Given the description of an element on the screen output the (x, y) to click on. 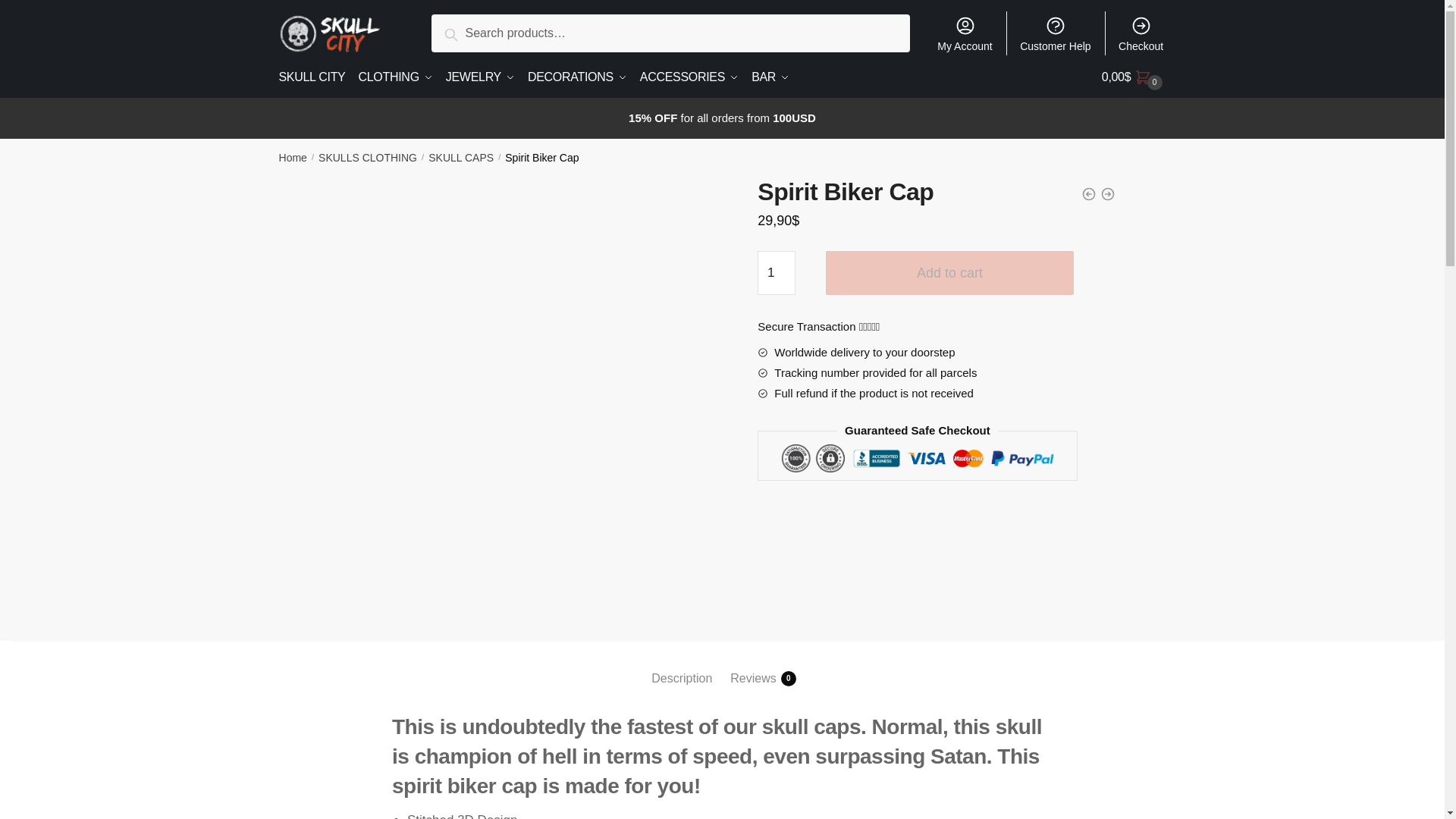
CLOTHING (395, 76)
My Account (964, 33)
Skip to navigation (48, 9)
Skip to content (40, 9)
SKULL CITY (315, 76)
DECORATIONS (577, 76)
JEWELRY (480, 76)
View your shopping cart (1134, 76)
Checkout (1141, 33)
Customer Help (1055, 33)
Search (467, 31)
